Given the description of an element on the screen output the (x, y) to click on. 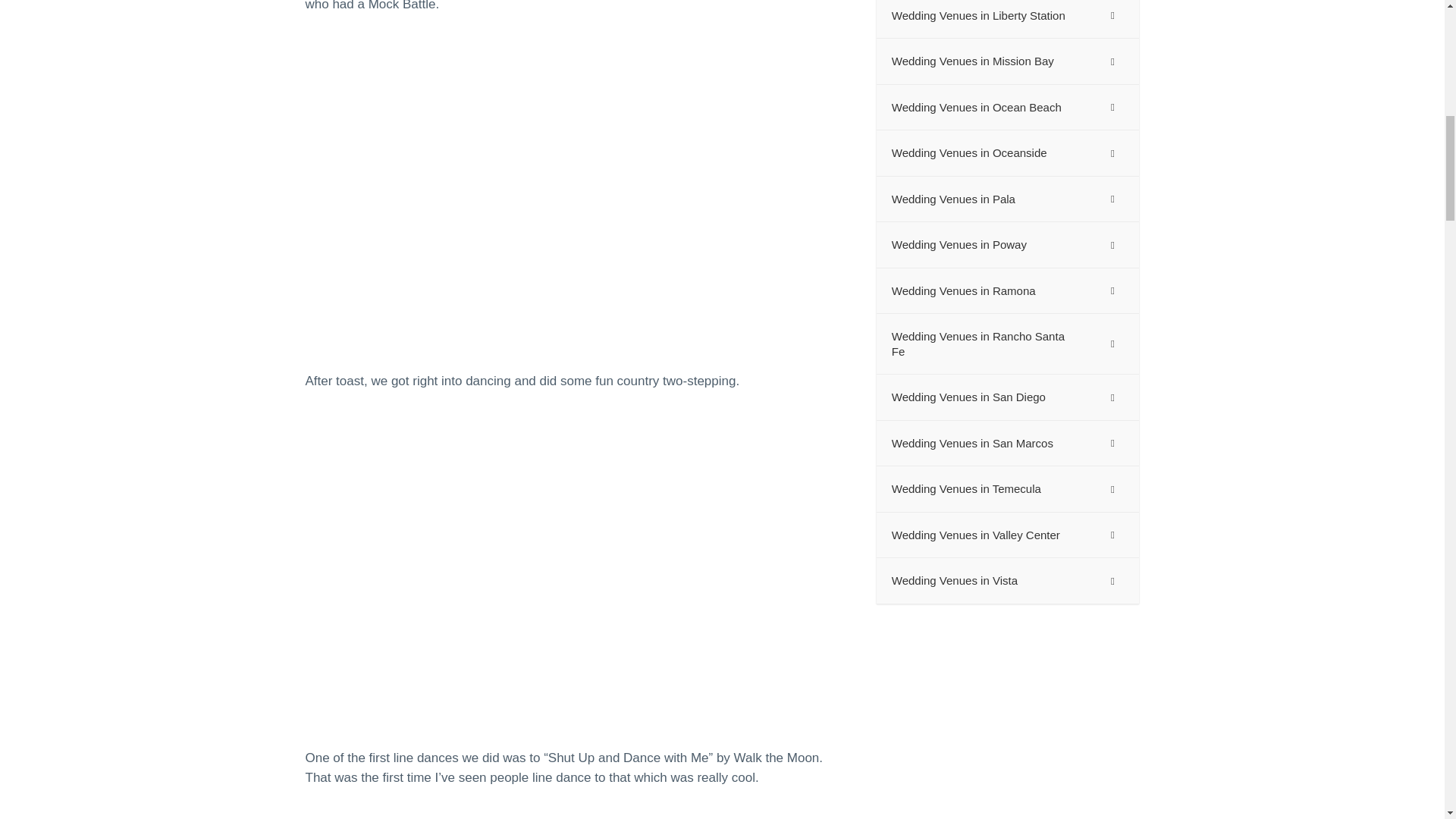
Line Dancing at a Maderas Golf Club Wedding (574, 811)
